Given the description of an element on the screen output the (x, y) to click on. 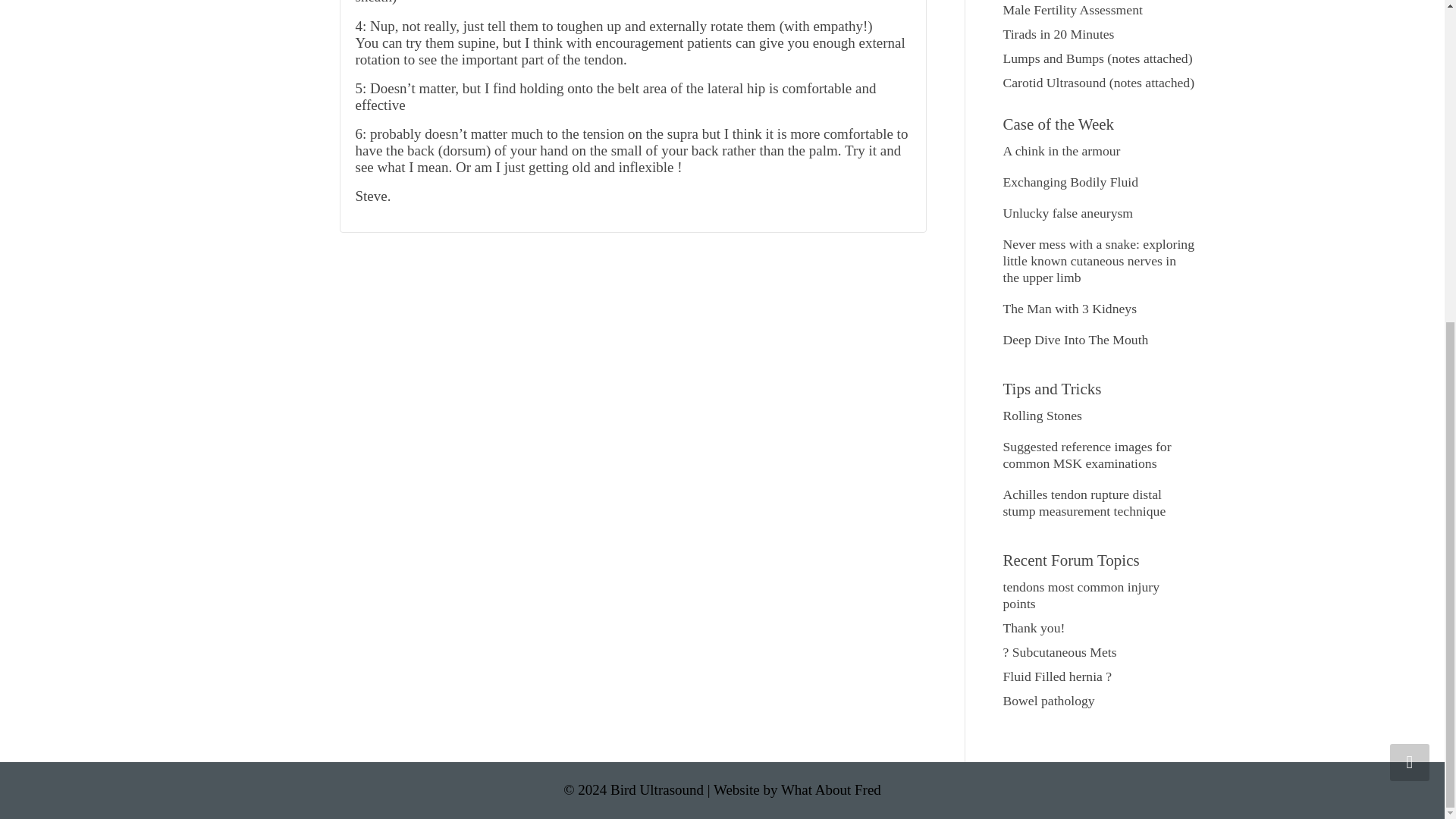
Bowel pathology (1048, 700)
Achilles tendon rupture distal stump measurement technique (1084, 502)
Tirads in 20 Minutes (1058, 33)
Thank you! (1033, 627)
Male Fertility Assessment (1072, 9)
A chink in the armour (1061, 150)
Male Fertility Assessment (1072, 9)
Deep Dive Into The Mouth (1075, 339)
tendons most common injury points (1080, 594)
The Man with 3 Kidneys (1070, 308)
? Subcutaneous Mets (1059, 652)
Tirads in 20 Minutes (1058, 33)
Unlucky false aneurysm (1067, 212)
Suggested reference images for common MSK examinations (1086, 454)
Rolling Stones (1042, 415)
